Given the description of an element on the screen output the (x, y) to click on. 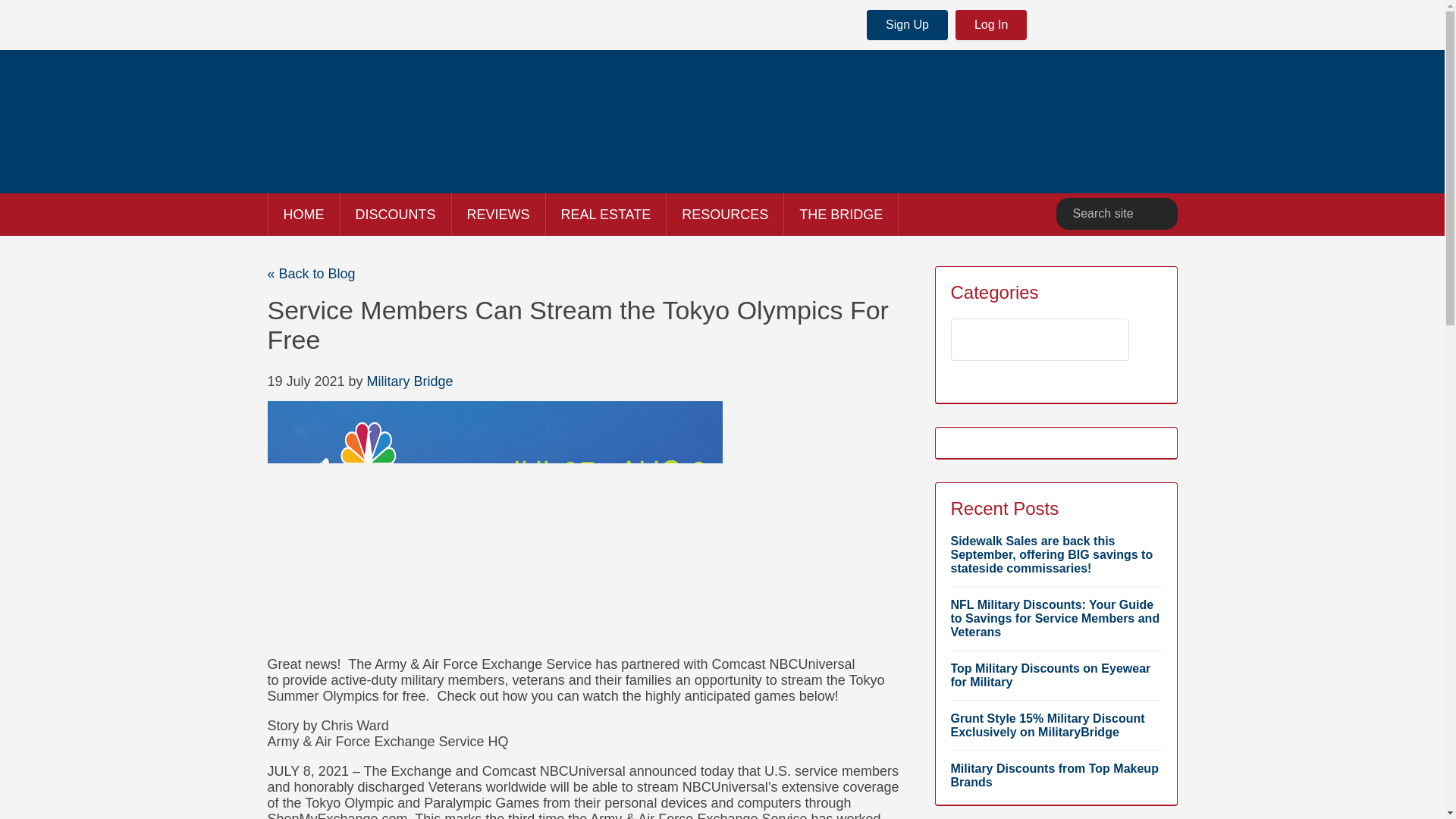
Twitter (1091, 26)
Search (1159, 213)
HOME (303, 214)
Instagram (1127, 26)
Pinterest (1163, 26)
Military Bridge (409, 381)
THE BRIDGE (841, 214)
REVIEWS (497, 214)
DISCOUNTS (394, 214)
Log In (990, 24)
